Given the description of an element on the screen output the (x, y) to click on. 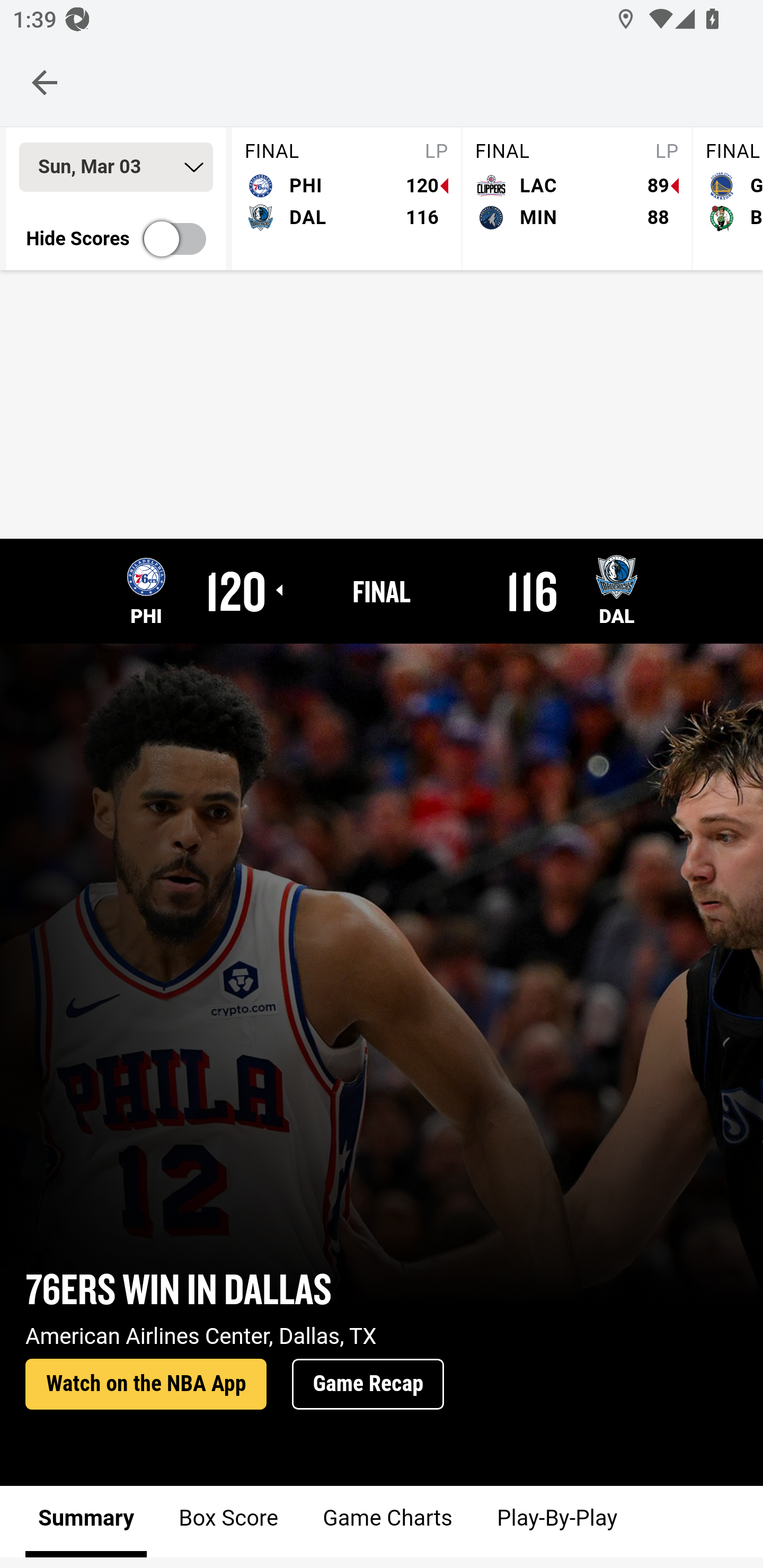
Navigate up (44, 82)
Sun, Mar 03 (115, 166)
Watch on the NBA App (146, 1384)
Game Recap (367, 1384)
Summary Summary Summary (86, 1521)
Box Score Box Score Box Score (228, 1521)
Game Charts Game Charts Game Charts (387, 1521)
Play-By-Play Play-By-Play Play-By-Play (556, 1521)
